Given the description of an element on the screen output the (x, y) to click on. 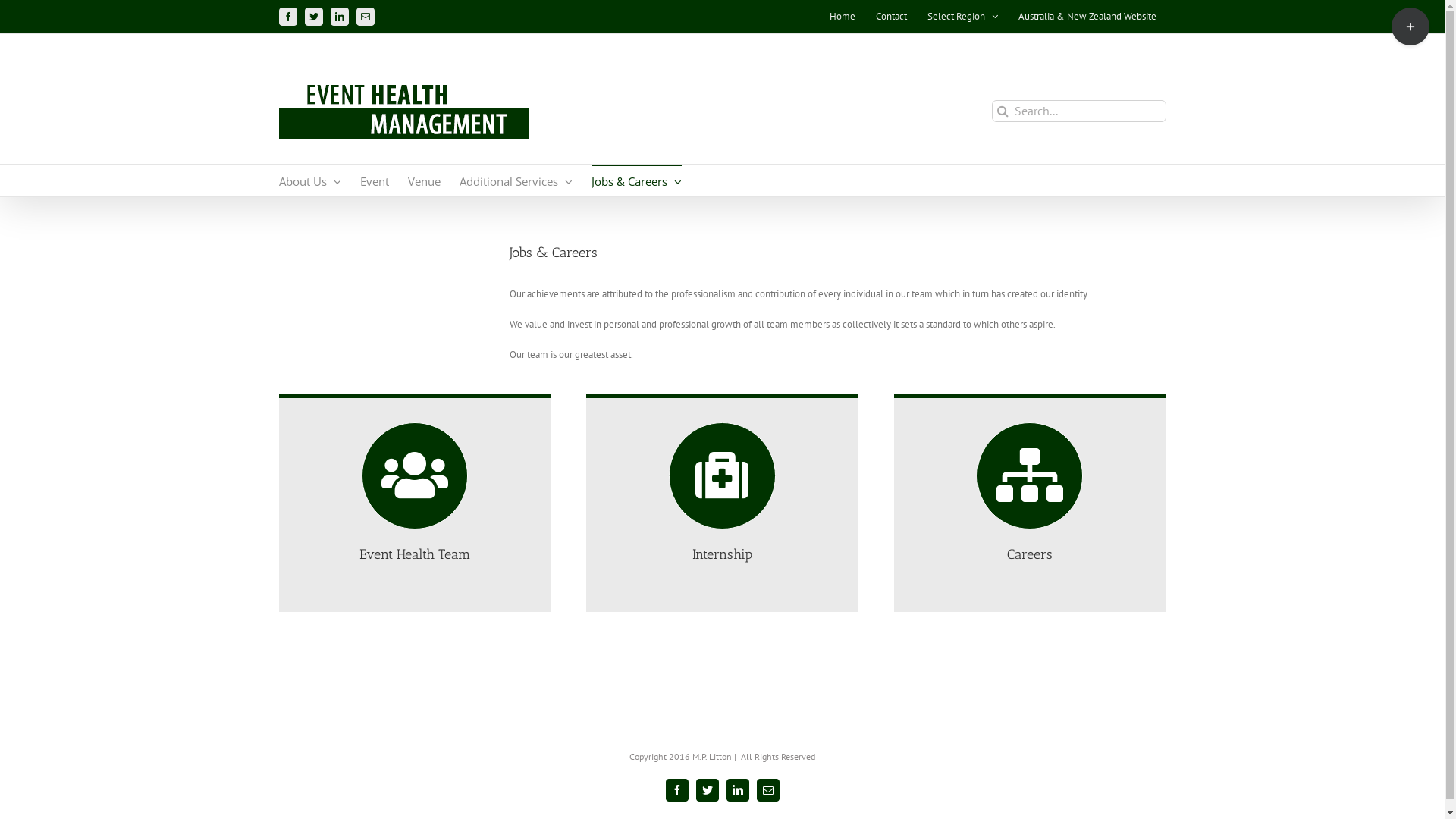
Additional Services Element type: text (515, 180)
Select Region Element type: text (962, 16)
LinkedIn Element type: text (339, 16)
Twitter Element type: text (313, 16)
Venue Element type: text (423, 180)
Email Element type: text (365, 16)
Home Element type: text (841, 16)
Twitter Element type: text (707, 789)
Toggle Sliding Bar Area Element type: text (1410, 26)
Contact Element type: text (891, 16)
Australia & New Zealand Website Element type: text (1087, 16)
About Us Element type: text (310, 180)
Event Element type: text (373, 180)
LinkedIn Element type: text (737, 789)
Email Element type: text (767, 789)
Jobs & Careers Element type: text (636, 180)
Facebook Element type: text (288, 16)
Facebook Element type: text (676, 789)
